Given the description of an element on the screen output the (x, y) to click on. 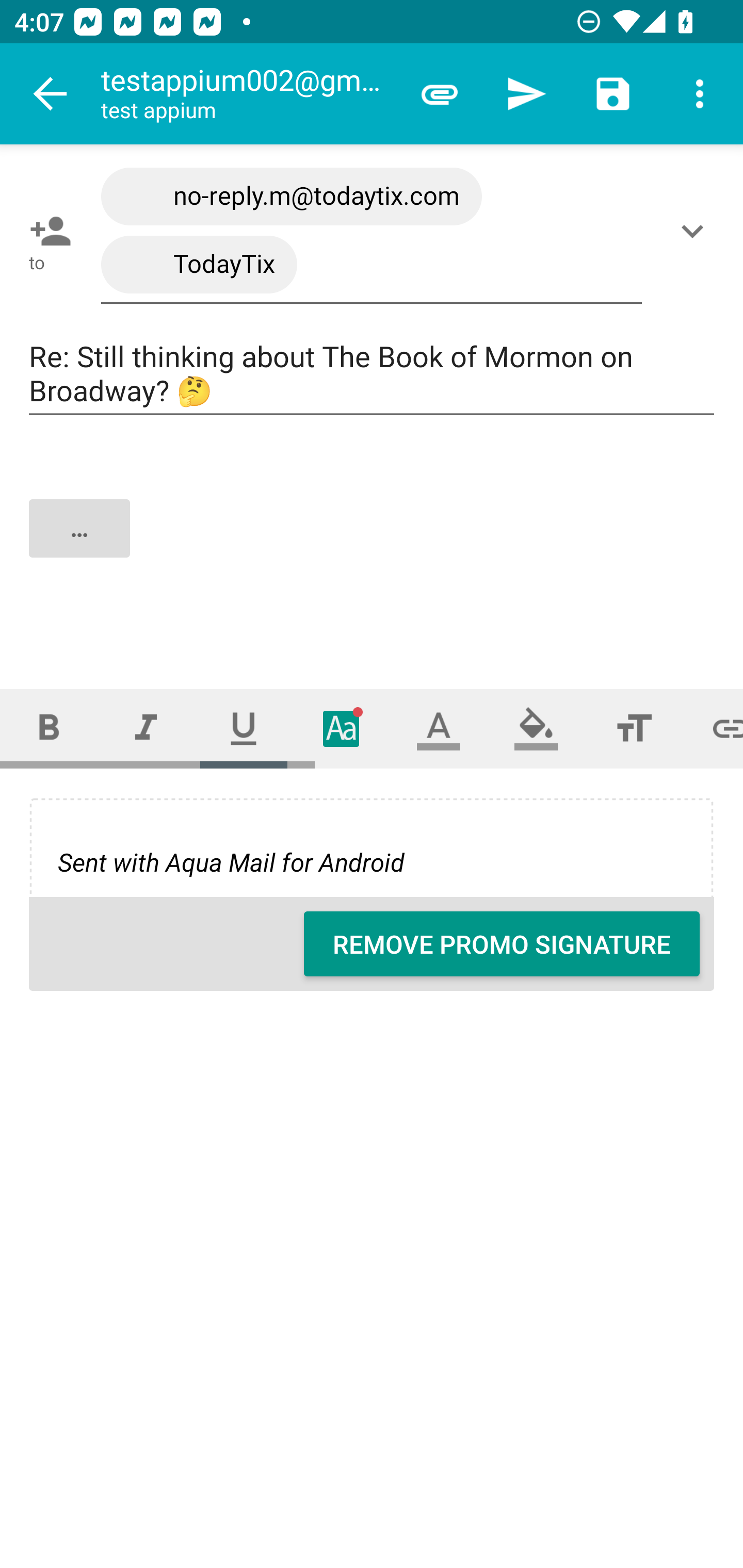
Navigate up (50, 93)
testappium002@gmail.com test appium (248, 93)
Attach (439, 93)
Send (525, 93)
Save (612, 93)
More options (699, 93)
Pick contact: To (46, 231)
Show/Add CC/BCC (696, 231)

…
 (372, 544)
Bold (48, 728)
Italic (145, 728)
Underline (243, 728)
Typeface (font) (341, 728)
Text color (438, 728)
Fill color (536, 728)
Font size (633, 728)
REMOVE PROMO SIGNATURE (501, 943)
